Given the description of an element on the screen output the (x, y) to click on. 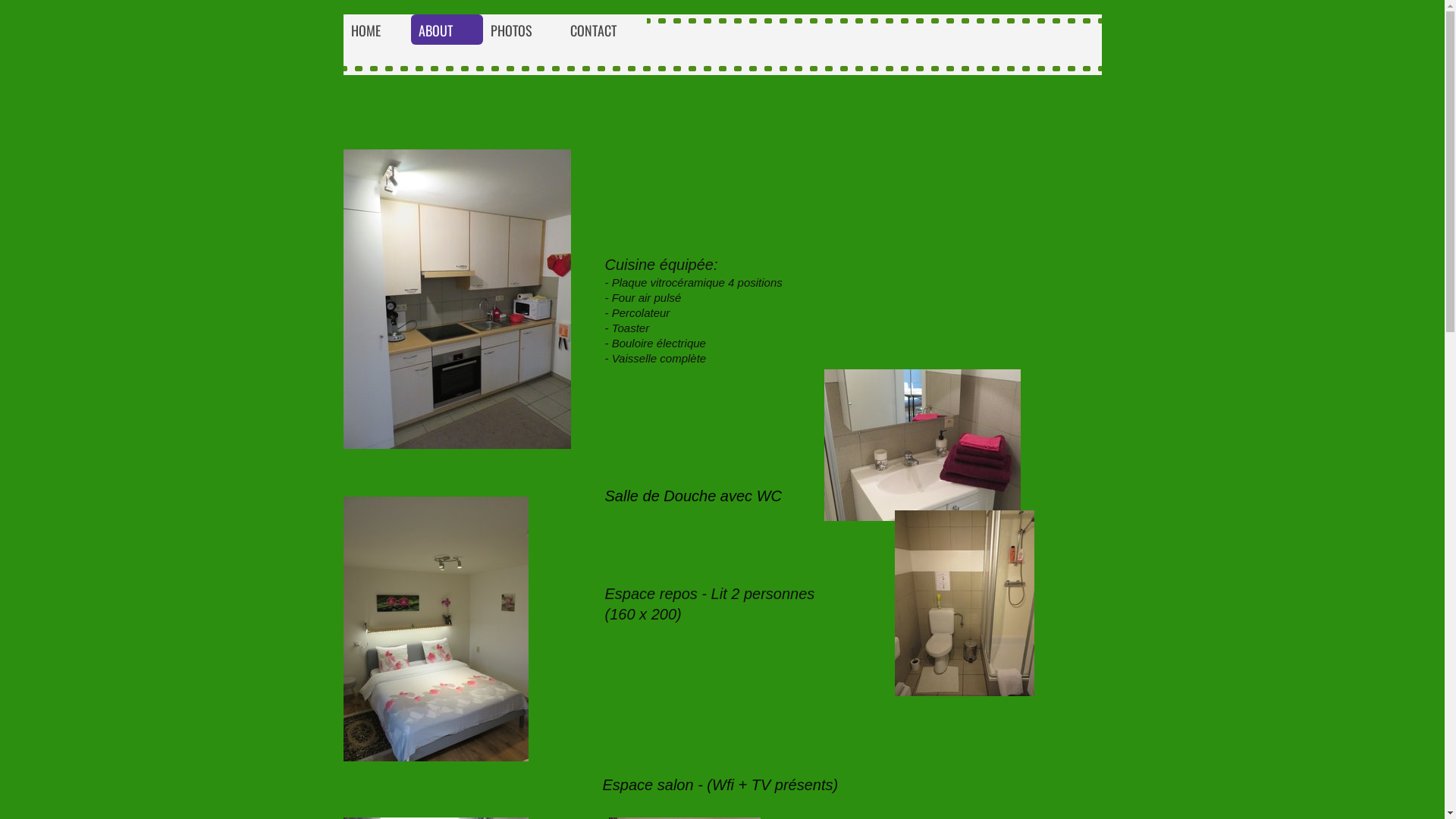
CONTACT Element type: text (604, 29)
ABOUT Element type: text (447, 29)
PHOTOS Element type: text (521, 29)
HOME Element type: text (376, 29)
